Given the description of an element on the screen output the (x, y) to click on. 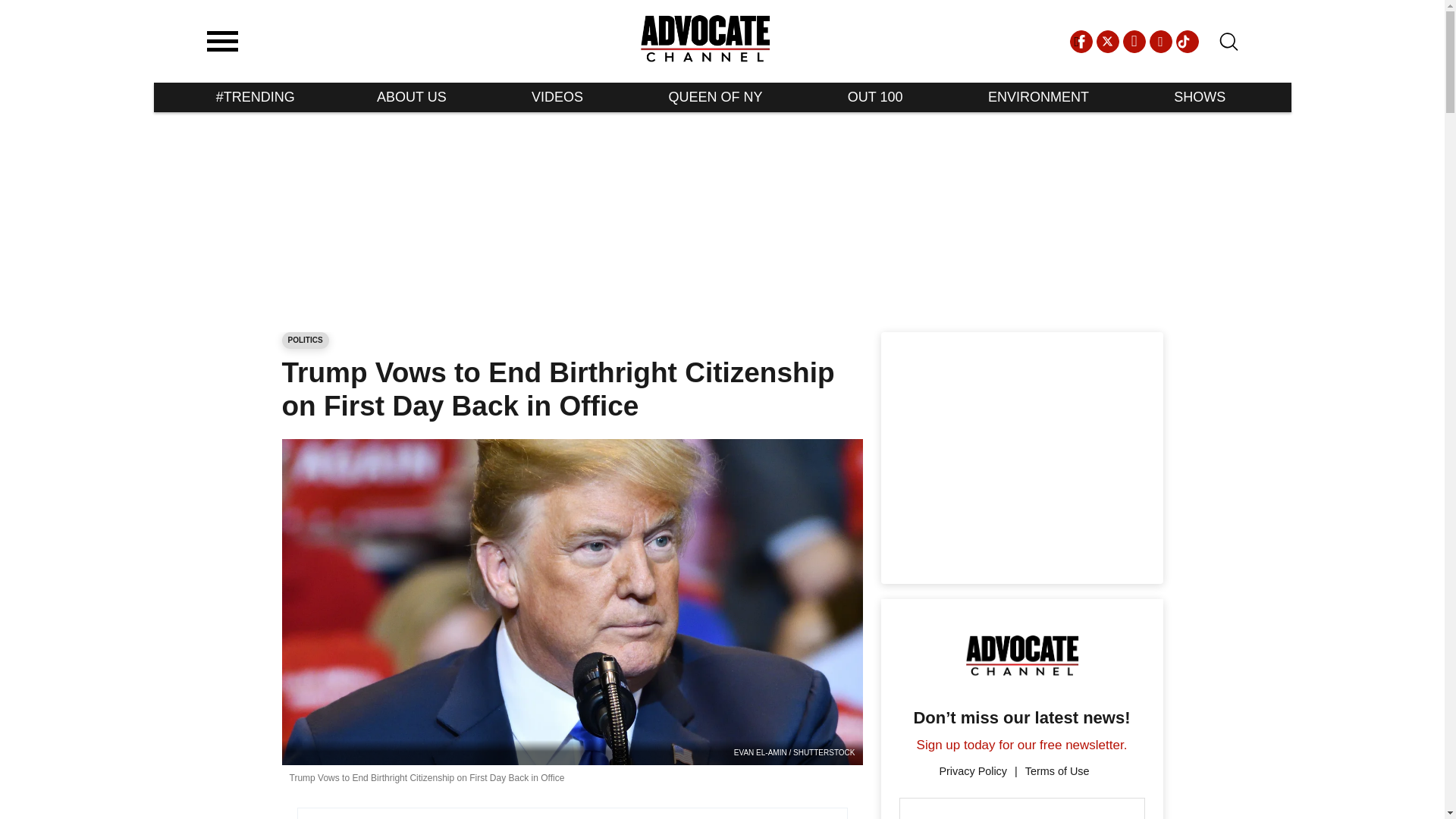
ENVIRONMENT (1038, 96)
VIDEOS (557, 96)
QUEEN OF NY (715, 96)
SHOWS (1199, 96)
ABOUT US (411, 96)
OUT 100 (874, 96)
To the homepage (705, 41)
